Given the description of an element on the screen output the (x, y) to click on. 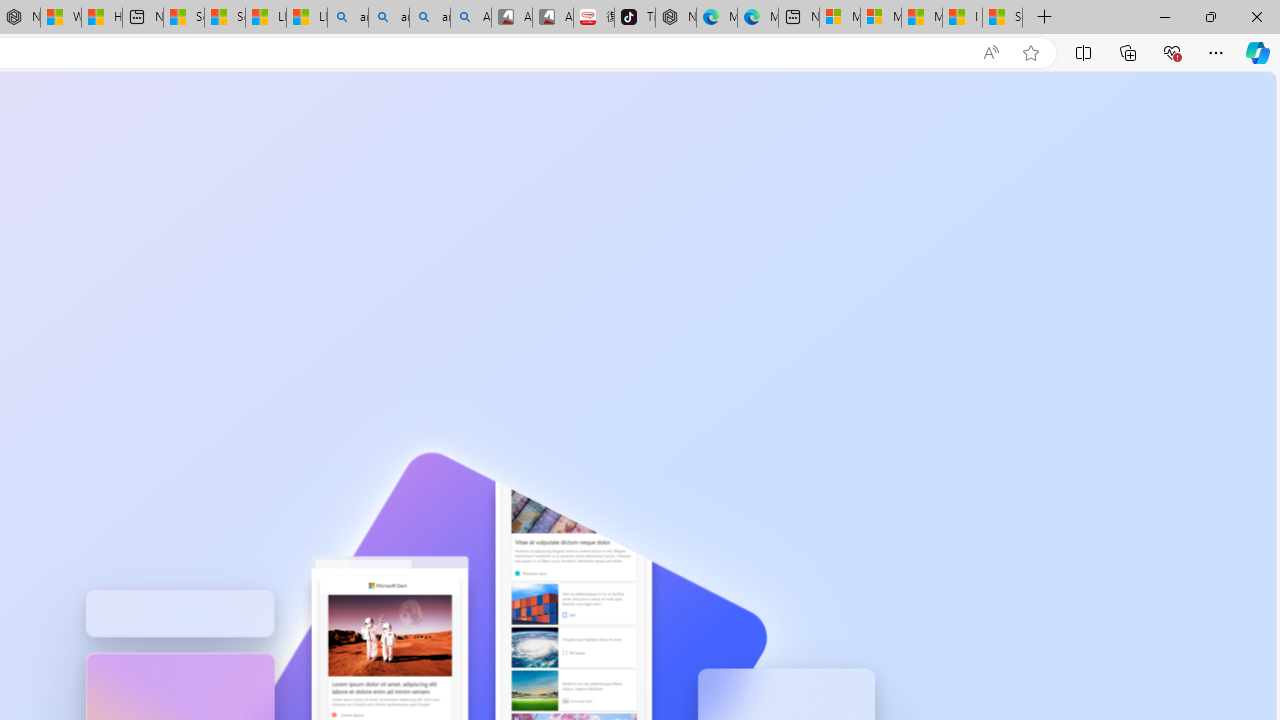
TikTok (634, 17)
amazon - Search Images (429, 17)
Amazon Echo Robot - Search Images (470, 17)
